Given the description of an element on the screen output the (x, y) to click on. 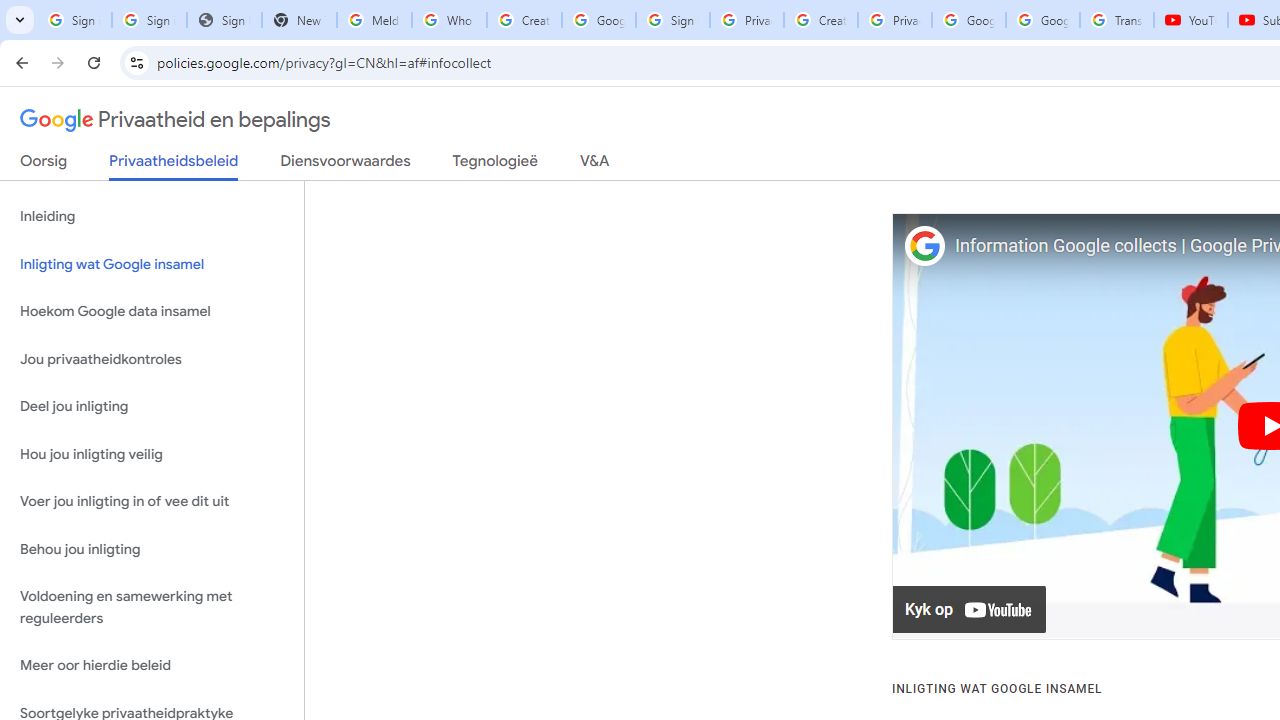
Behou jou inligting (152, 548)
Jou privaatheidkontroles (152, 358)
Hoekom Google data insamel (152, 312)
Sign in - Google Accounts (148, 20)
Create your Google Account (523, 20)
